Given the description of an element on the screen output the (x, y) to click on. 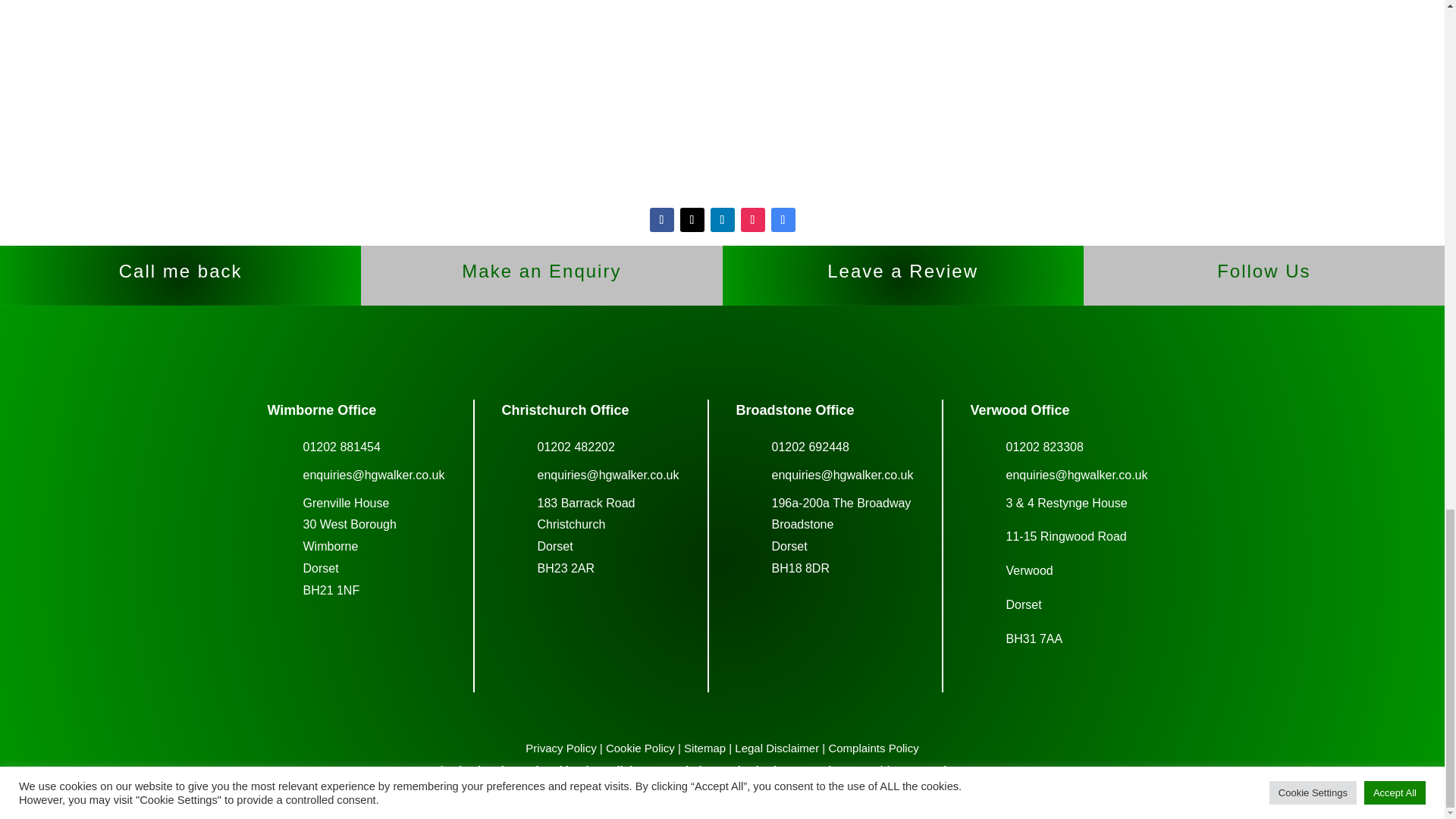
Follow on Twitter (691, 219)
Follow on Facebook (660, 219)
Follow on Google (782, 219)
Follow on LinkedIn (721, 219)
Follow on Instagram (751, 219)
